Given the description of an element on the screen output the (x, y) to click on. 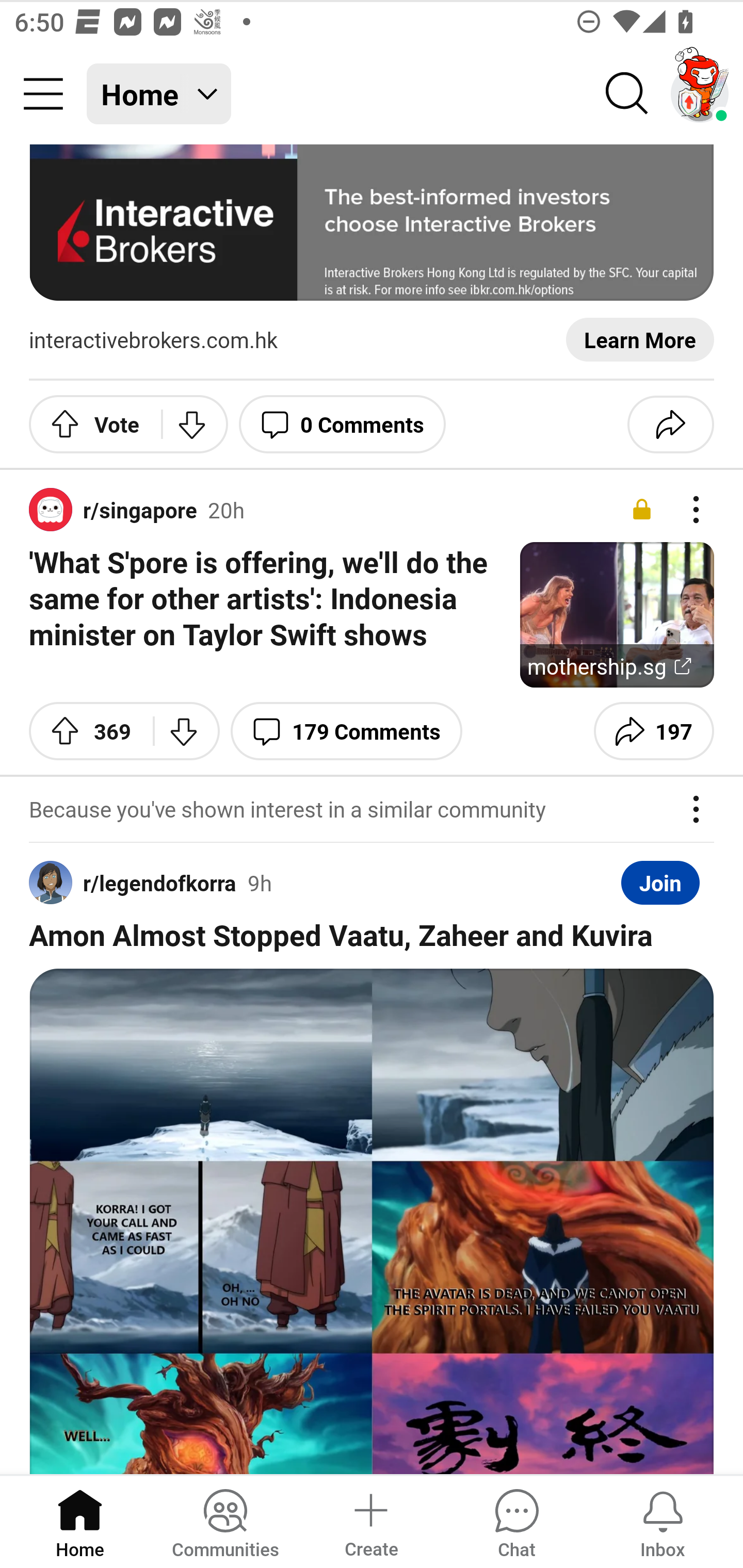
Community menu (43, 93)
Home Home feed (158, 93)
Search (626, 93)
TestAppium002 account (699, 93)
Home (80, 1520)
Communities (225, 1520)
Create a post Create (370, 1520)
Chat (516, 1520)
Inbox (662, 1520)
